Given the description of an element on the screen output the (x, y) to click on. 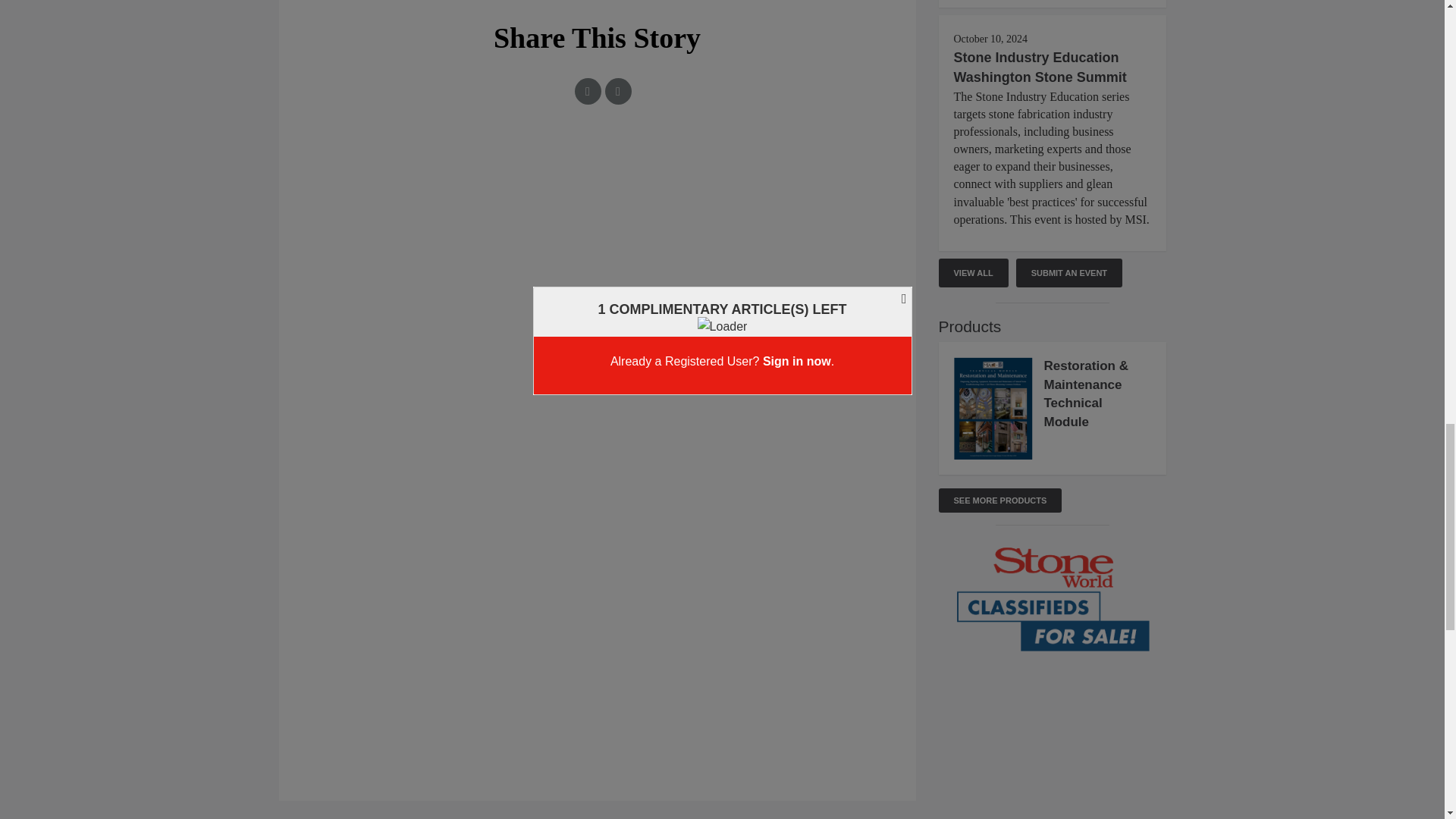
Interaction questions (1052, 738)
Interaction questions (597, 209)
Stone Industry Education Washington Stone Summit (1039, 67)
